Given the description of an element on the screen output the (x, y) to click on. 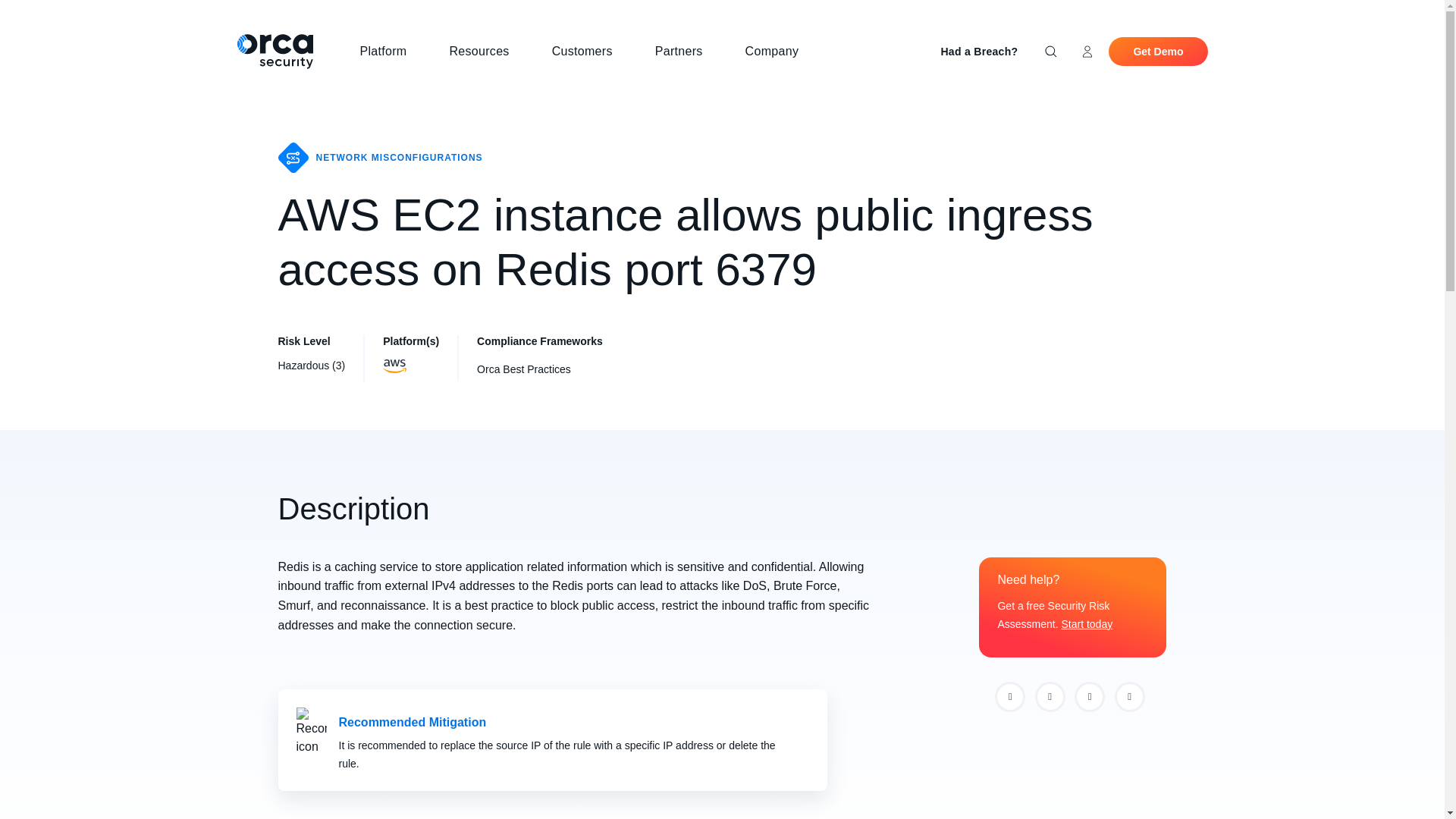
Platform (388, 51)
Resources (484, 51)
